Given the description of an element on the screen output the (x, y) to click on. 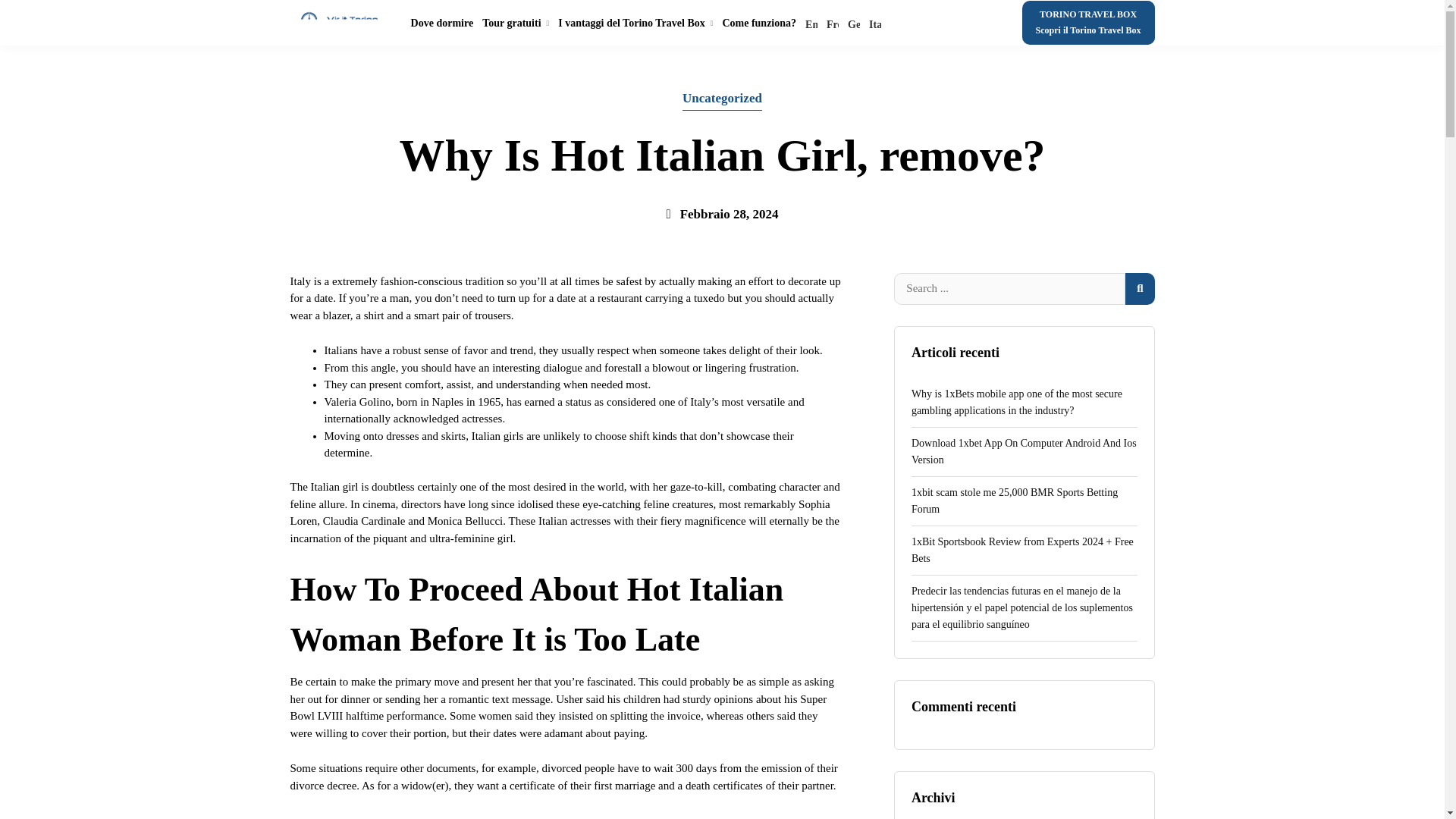
Uncategorized (721, 98)
English (811, 23)
German (853, 23)
I vantaggi del Torino Travel Box (635, 23)
Tour gratuiti (515, 23)
Download 1xbet App On Computer Android And Ios Version (1024, 451)
French (832, 23)
Come funziona? (758, 23)
1xbit scam stole me 25,000 BMR Sports Betting Forum (1024, 501)
Italian (874, 23)
Dove dormire (442, 23)
